Given the description of an element on the screen output the (x, y) to click on. 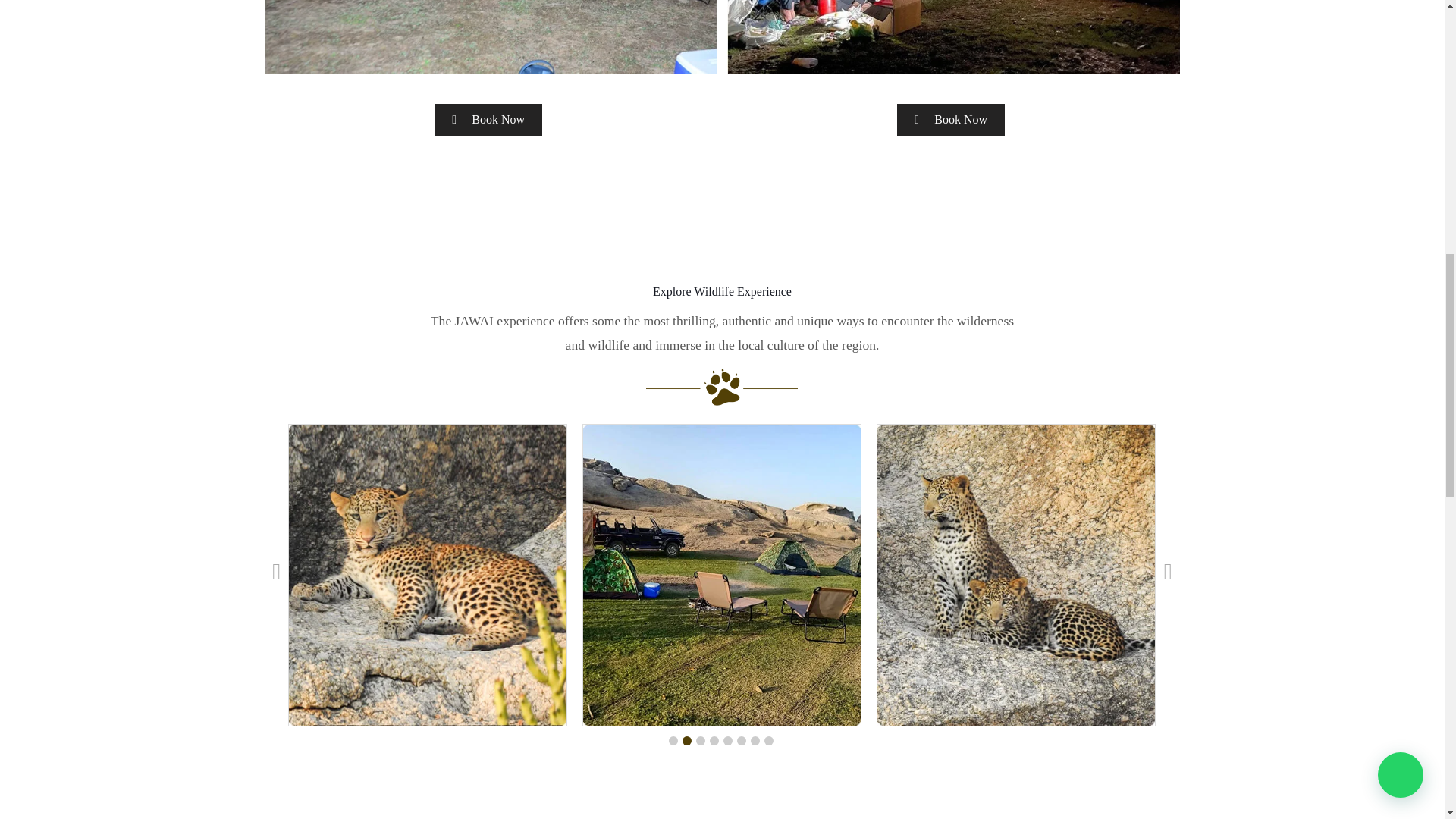
Book Now (950, 119)
Book Now (487, 119)
